Given the description of an element on the screen output the (x, y) to click on. 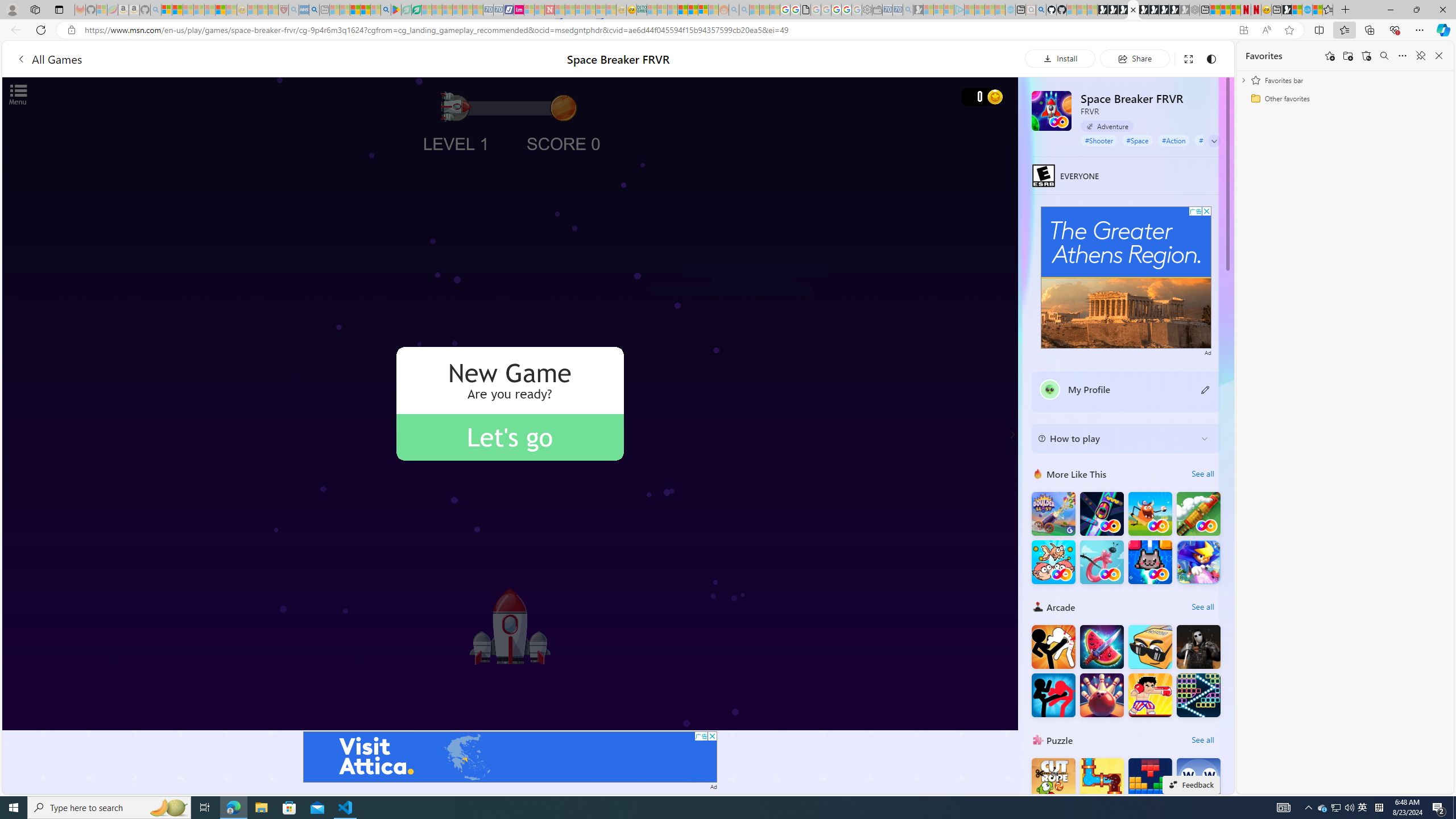
Add folder (1347, 55)
Change to dark mode (1211, 58)
Plumber World (1101, 779)
Class: control (1214, 140)
#Space (1137, 140)
